Given the description of an element on the screen output the (x, y) to click on. 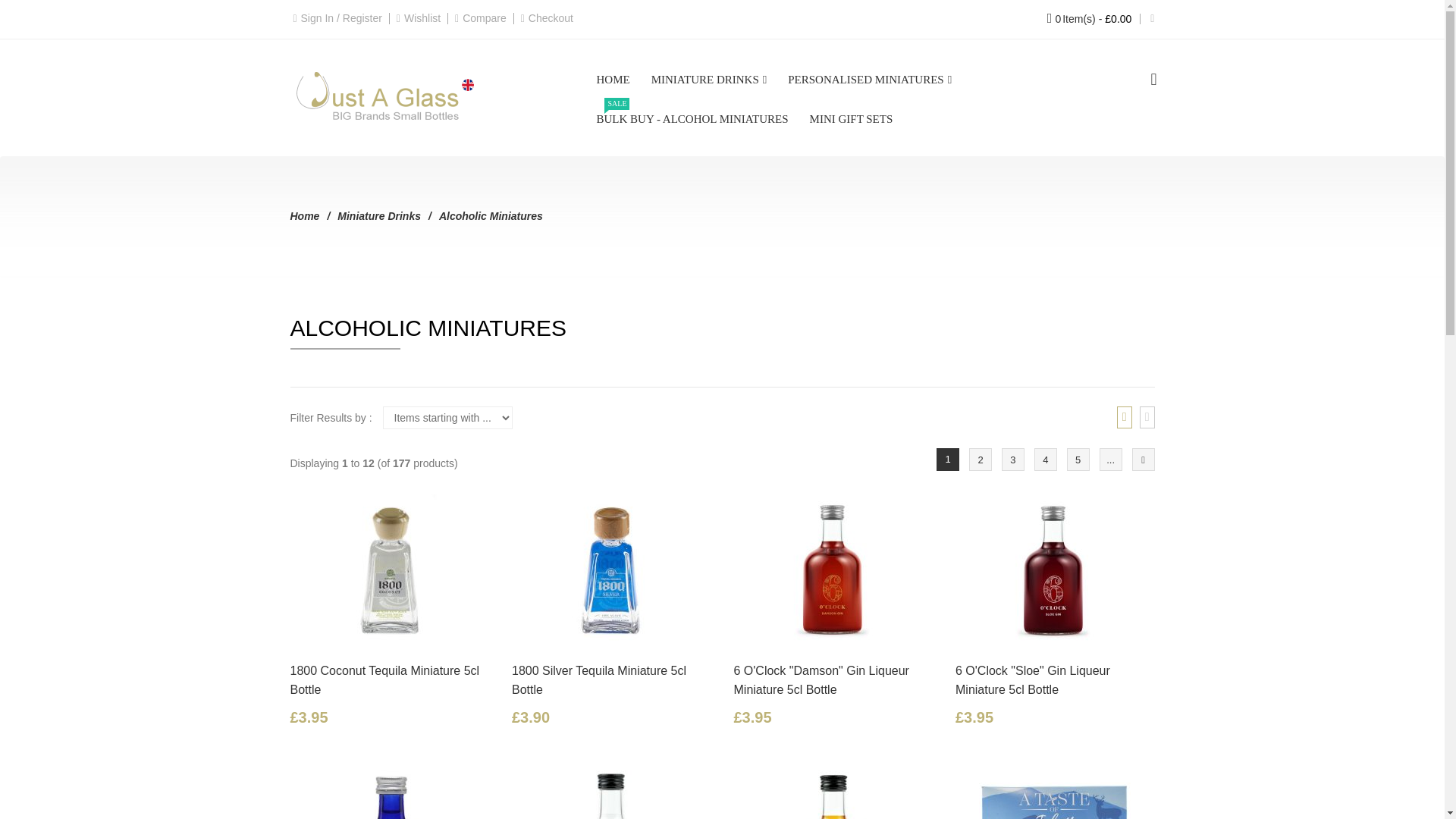
Compare (484, 18)
Wishlist (422, 18)
 Page 4  (1045, 458)
 Page 5  (1078, 458)
1800 Coconut Tequila Miniature 5cl Bottle (389, 569)
 Next Page  (1142, 458)
 Next Set of 5 Pages  (1110, 458)
Checkout (550, 18)
 Page 3  (1013, 458)
 Page 2  (980, 458)
